Given the description of an element on the screen output the (x, y) to click on. 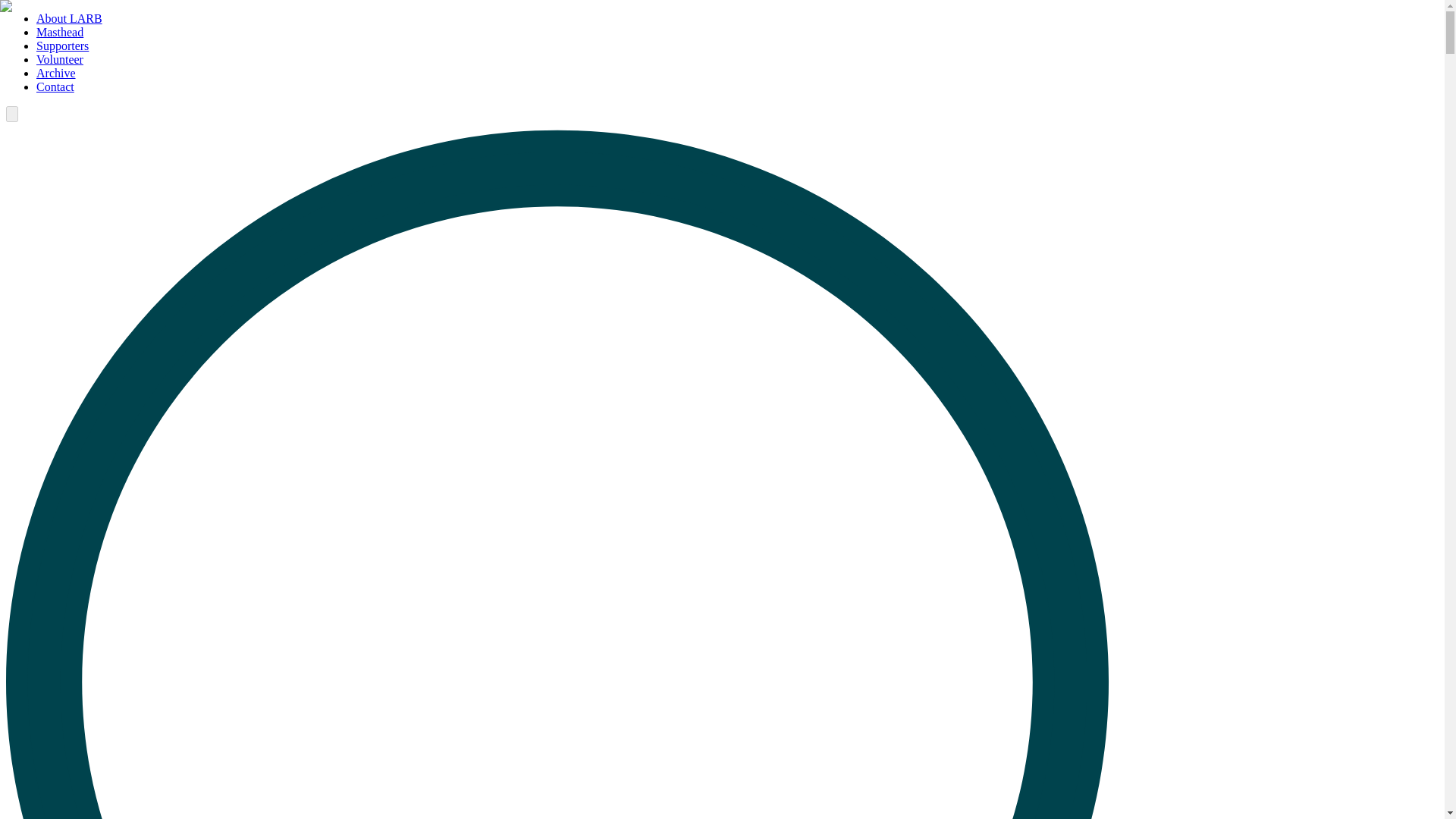
Supporters (62, 45)
Contact (55, 86)
Masthead (59, 31)
Volunteer (59, 59)
Archive (55, 72)
About LARB (68, 18)
